Given the description of an element on the screen output the (x, y) to click on. 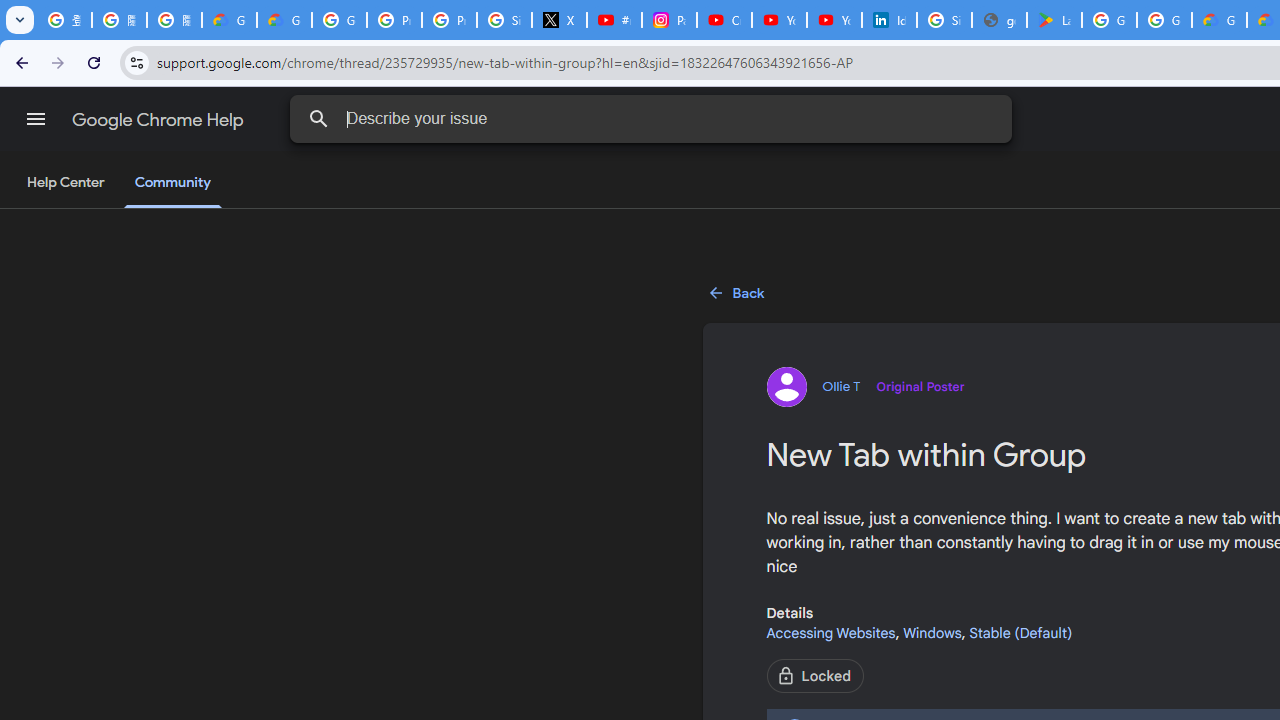
Accessing Websites (830, 632)
X (559, 20)
Last Shelter: Survival - Apps on Google Play (1053, 20)
View profile for Ollie T (865, 386)
Windows (932, 632)
